Given the description of an element on the screen output the (x, y) to click on. 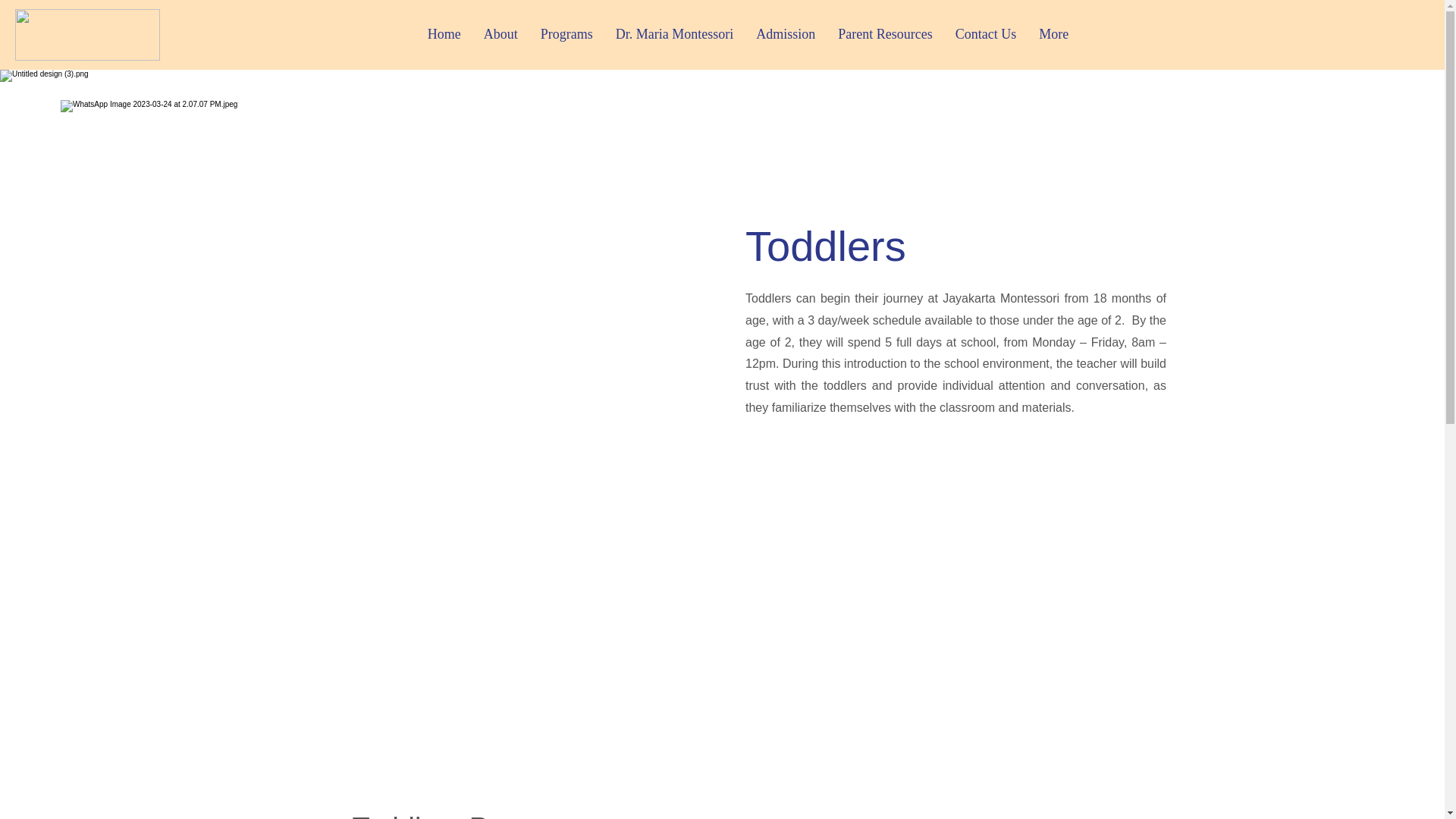
Home (443, 34)
Parent Resources (885, 34)
Admission (785, 34)
jms logo-01.png (87, 34)
Dr. Maria Montessori (674, 34)
Contact Us (985, 34)
